Given the description of an element on the screen output the (x, y) to click on. 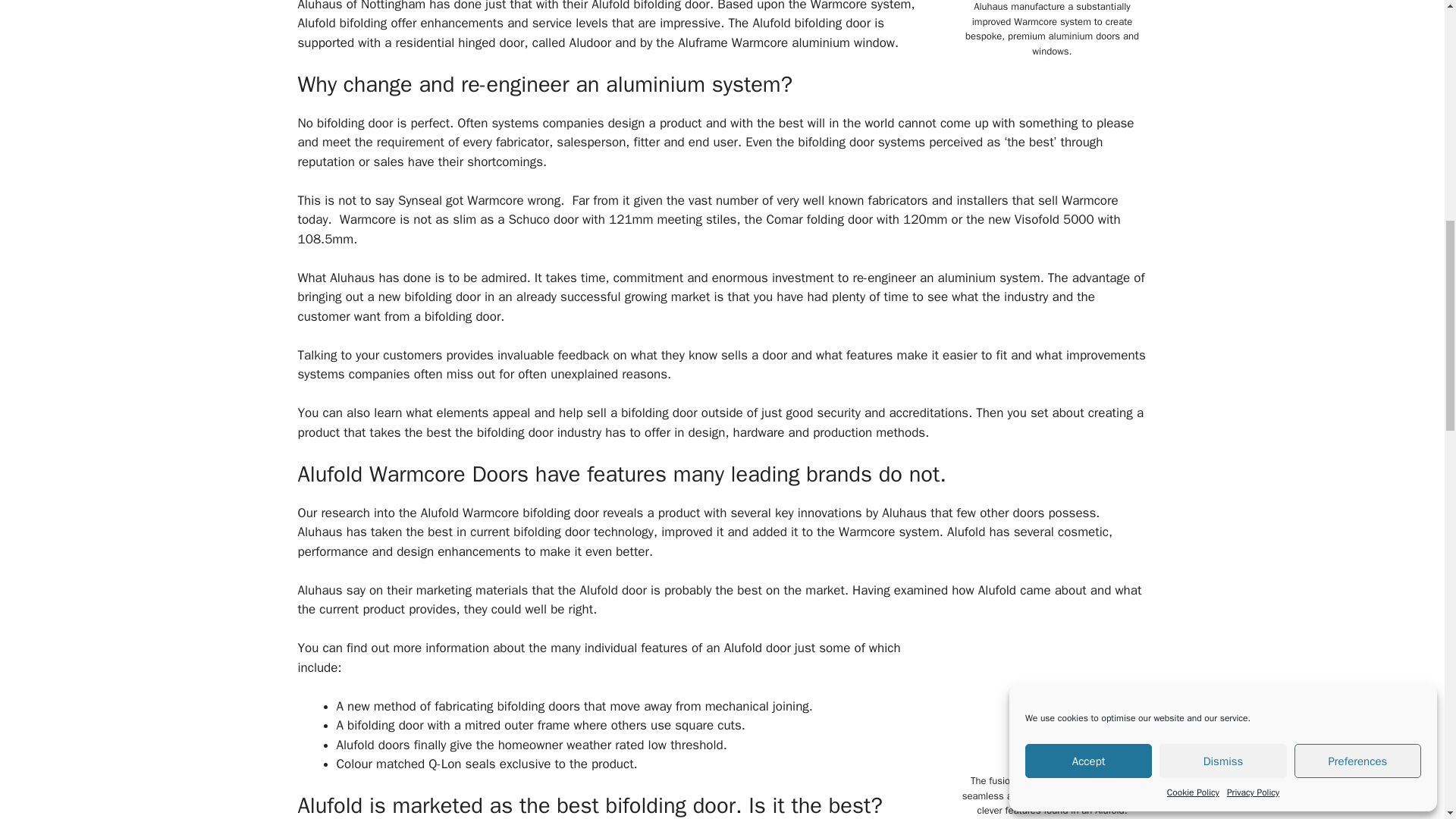
our alufold warmcore bifolding door review 2 (1051, 707)
